Given the description of an element on the screen output the (x, y) to click on. 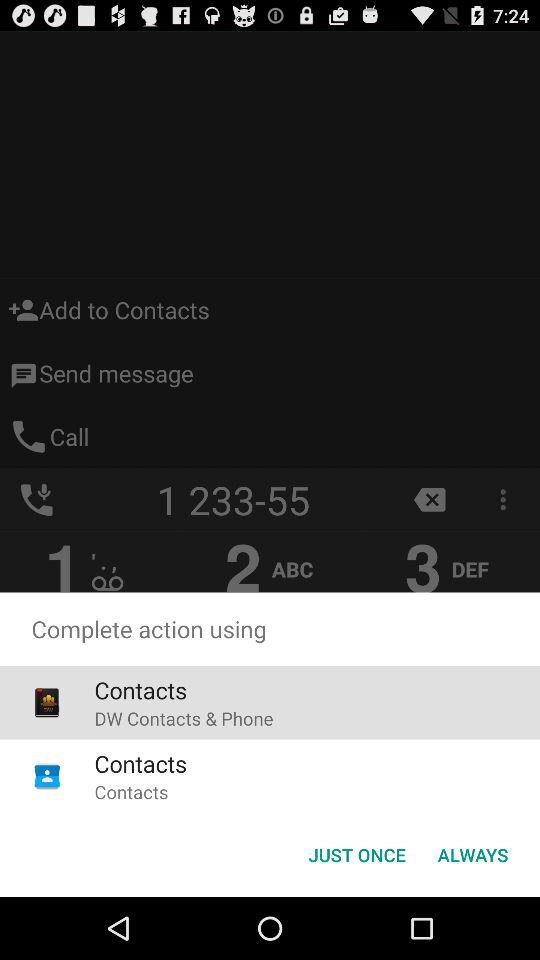
press the item next to the always icon (356, 854)
